Given the description of an element on the screen output the (x, y) to click on. 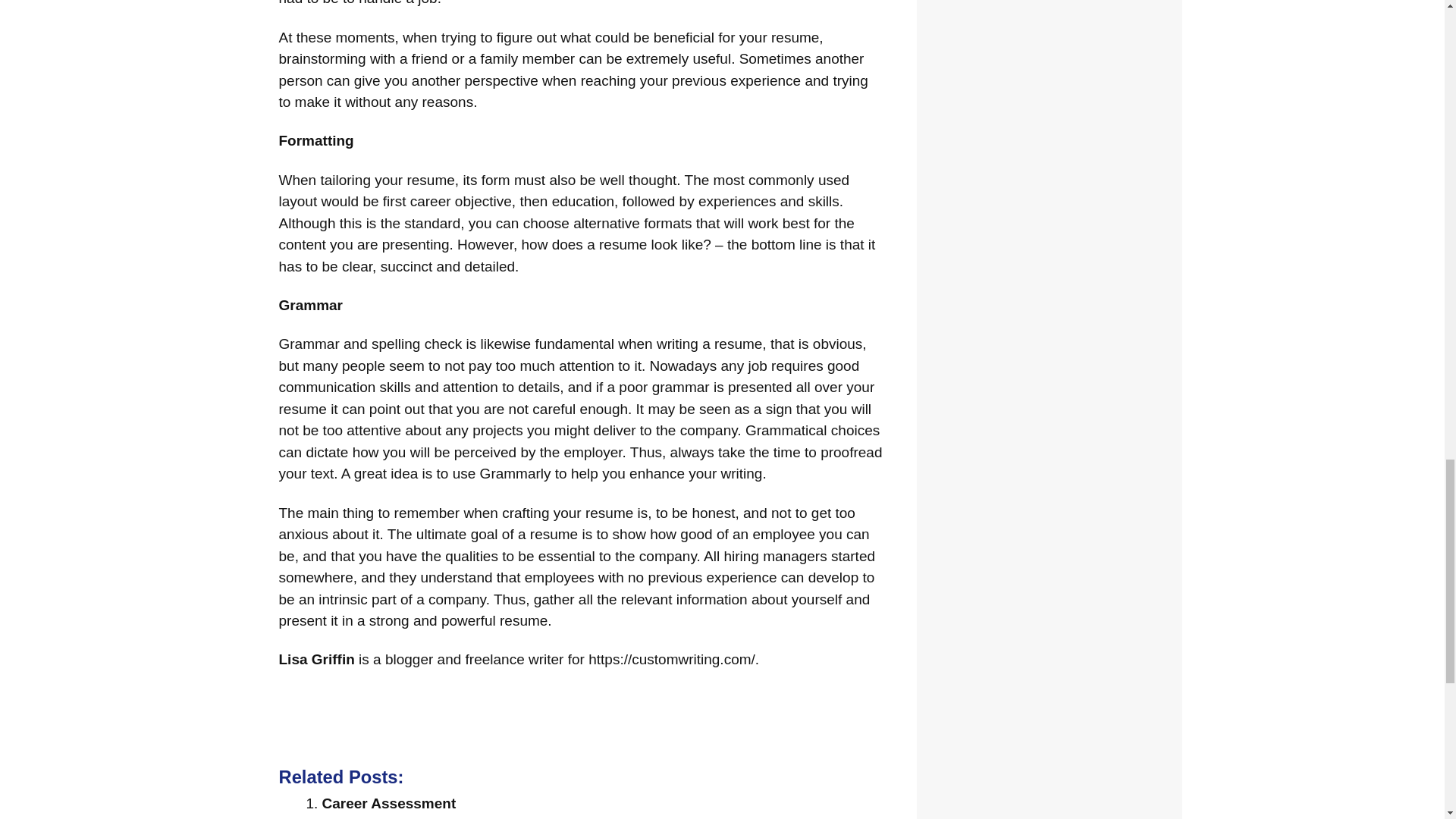
Career Assessment (388, 803)
Career Assessment (388, 803)
enhance your writing (694, 473)
